Given the description of an element on the screen output the (x, y) to click on. 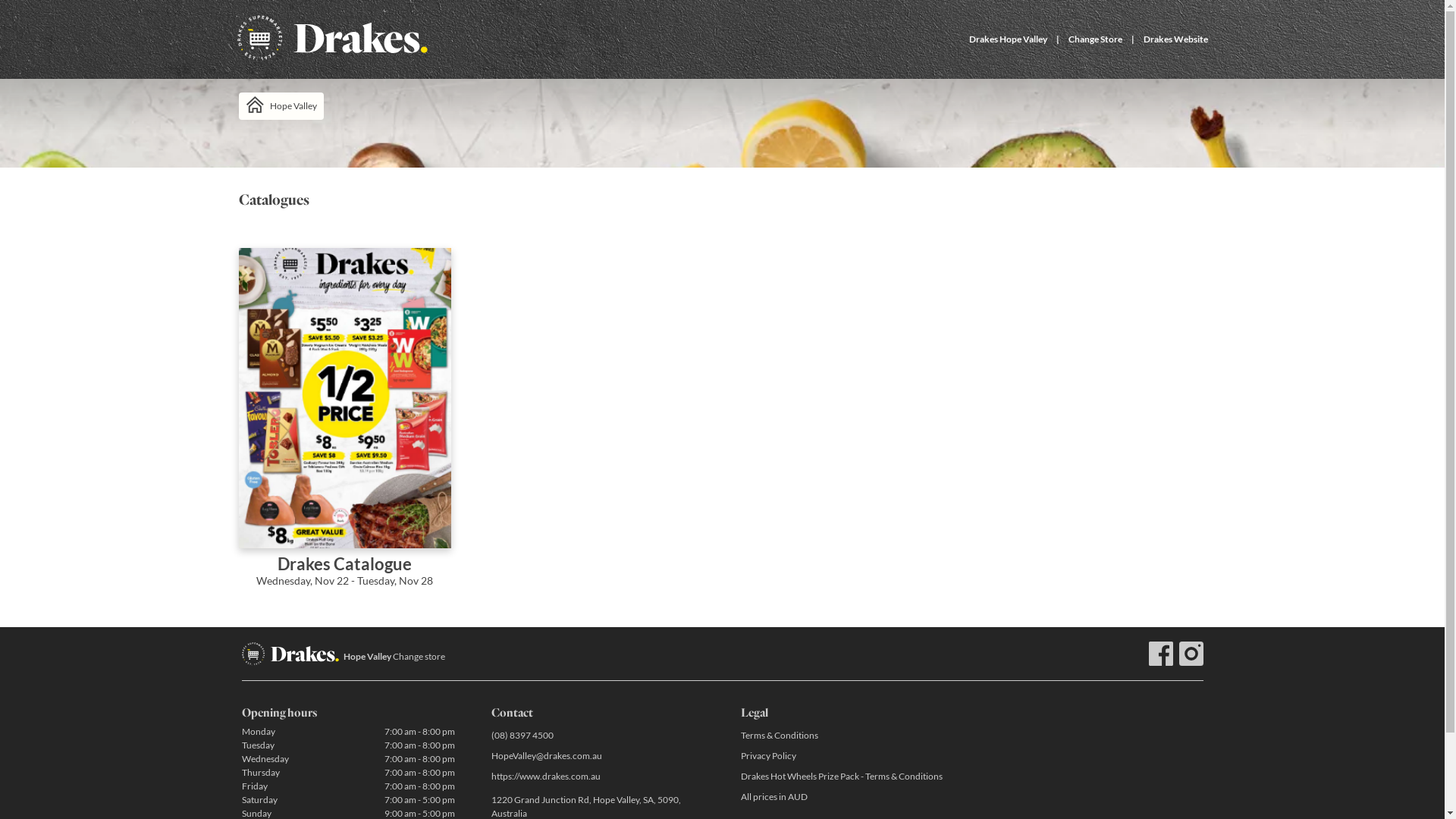
https://www.drakes.com.au Element type: text (597, 775)
Drakes Hot Wheels Prize Pack - Terms & Conditions Element type: text (846, 775)
Hope Valley Element type: text (280, 105)
Drakes Catalogue
Wednesday, Nov 22 - Tuesday, Nov 28 Element type: text (344, 427)
Facebook Element type: hover (1160, 653)
Change Store Element type: text (1094, 38)
Instagram drakessupermarkets Element type: hover (1190, 653)
Privacy Policy Element type: text (846, 755)
Drakes Website Element type: text (1175, 38)
Terms & Conditions Element type: text (846, 734)
Hope Valley Change store Element type: text (393, 656)
(08) 8397 4500 Element type: text (597, 734)
HopeValley@drakes.com.au Element type: text (597, 755)
